Given the description of an element on the screen output the (x, y) to click on. 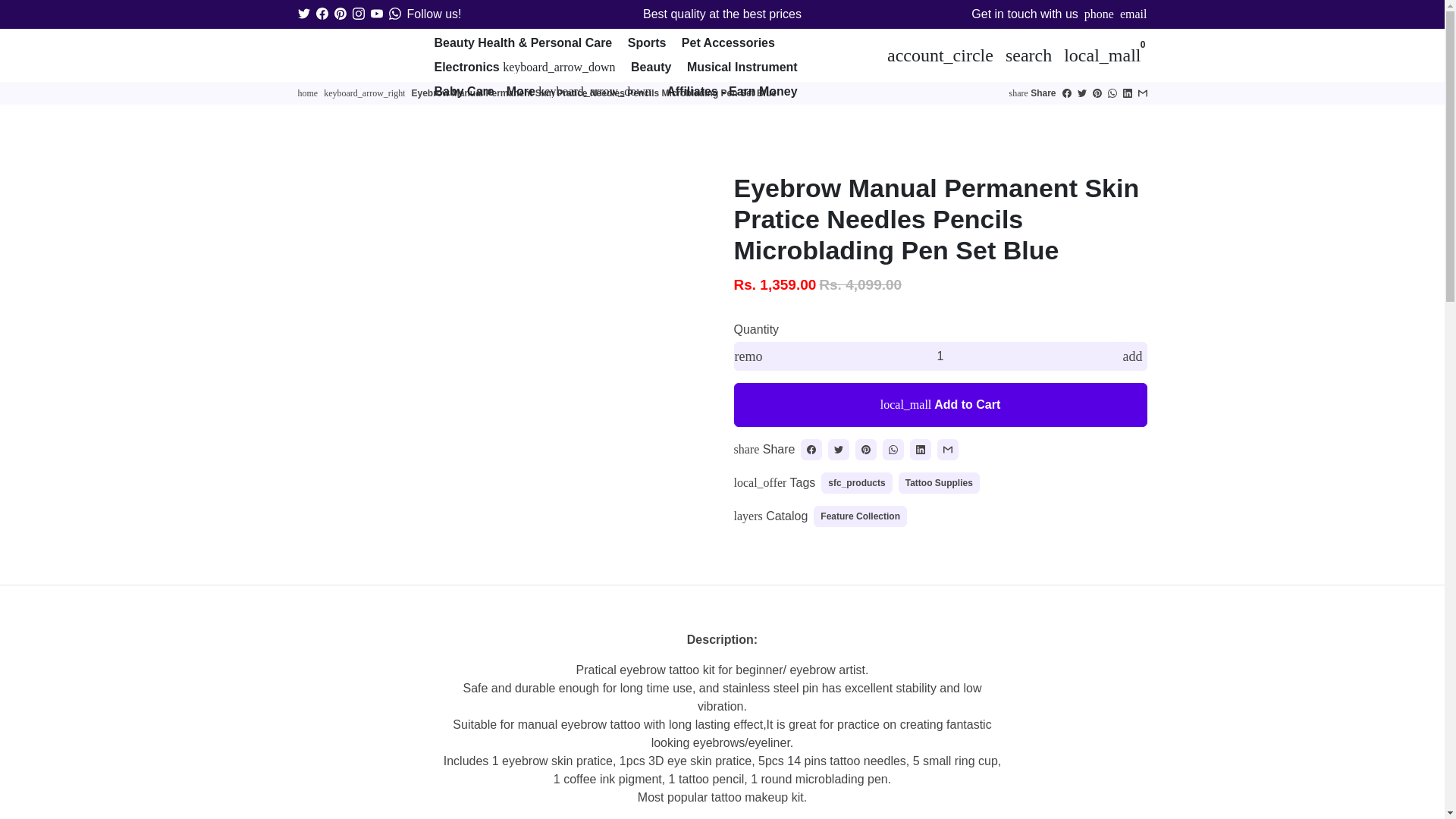
ikabestbuy on Instagram (358, 13)
1 (940, 356)
ikabestbuy on Twitter (302, 13)
ikabestbuy on Pinterest (339, 13)
ikabestbuy on Facebook (321, 13)
ikabestbuy on Youtube (375, 13)
